Given the description of an element on the screen output the (x, y) to click on. 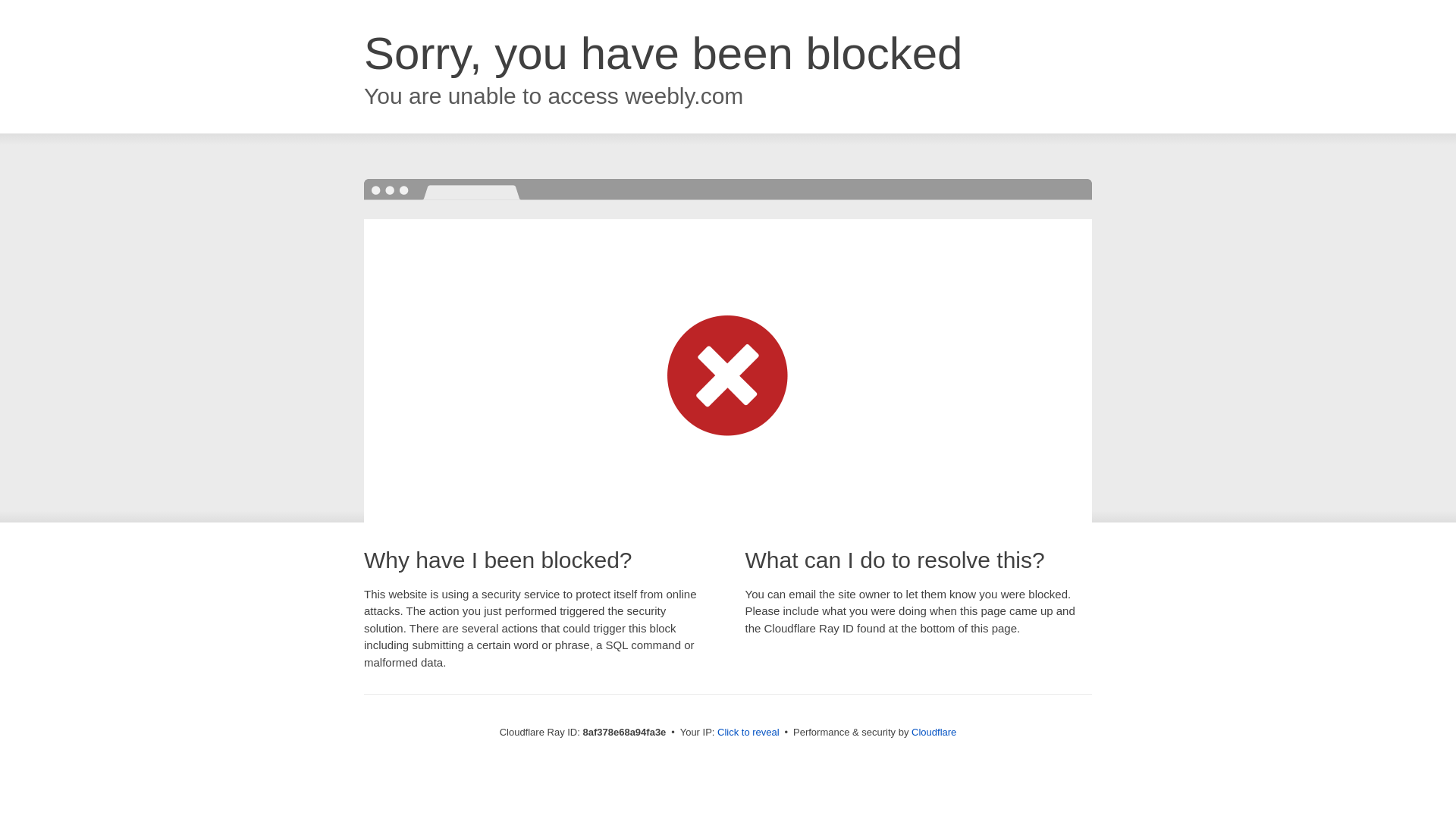
Click to reveal (747, 732)
Cloudflare (933, 731)
